Given the description of an element on the screen output the (x, y) to click on. 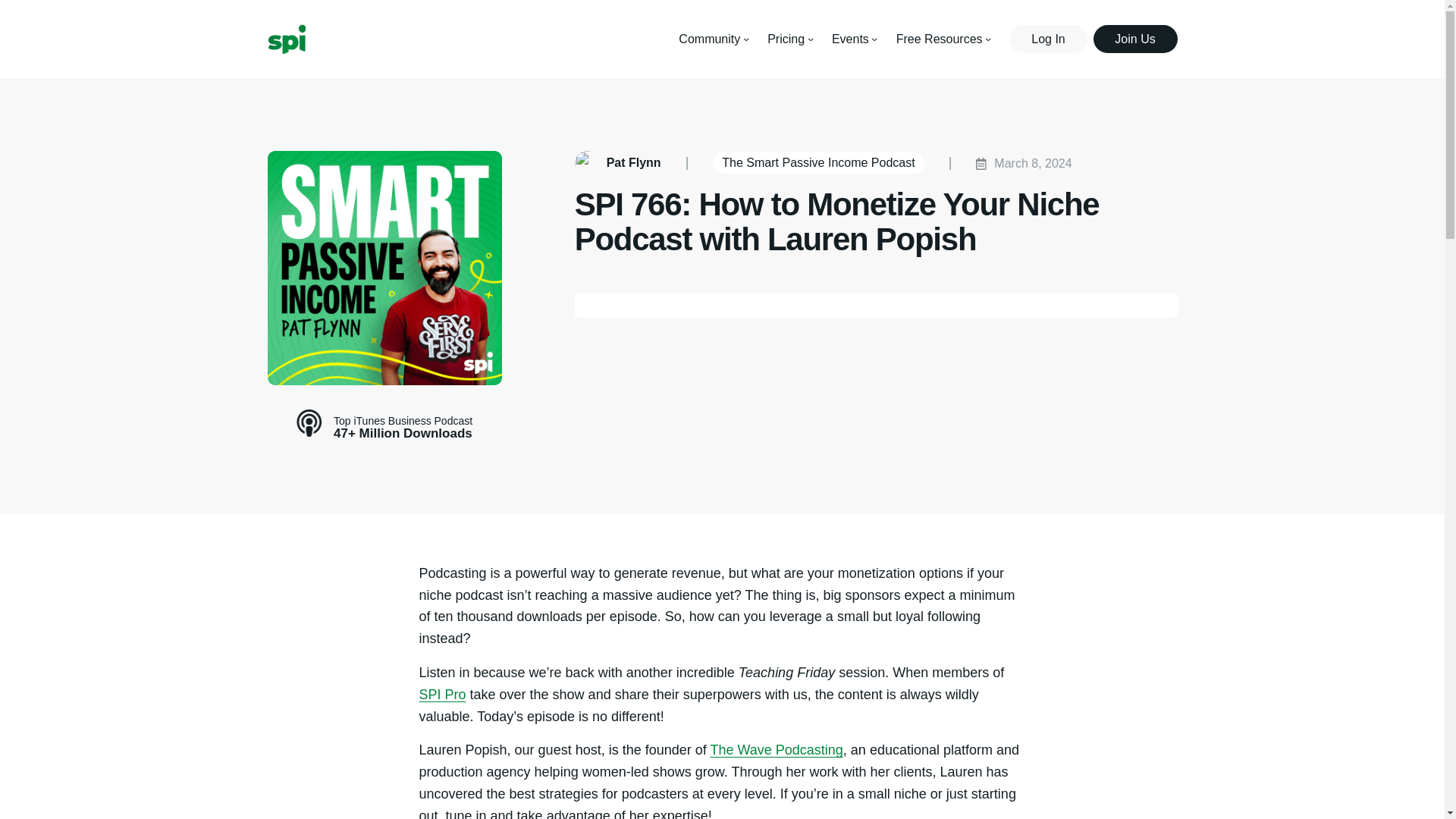
Community (708, 38)
Pricing (786, 38)
The Smart Passive Income Podcast (818, 162)
Log In (1047, 39)
The Wave Podcasting (776, 749)
Join Us (1135, 39)
Events (850, 38)
Free Resources (939, 38)
SPI Pro (442, 694)
